Given the description of an element on the screen output the (x, y) to click on. 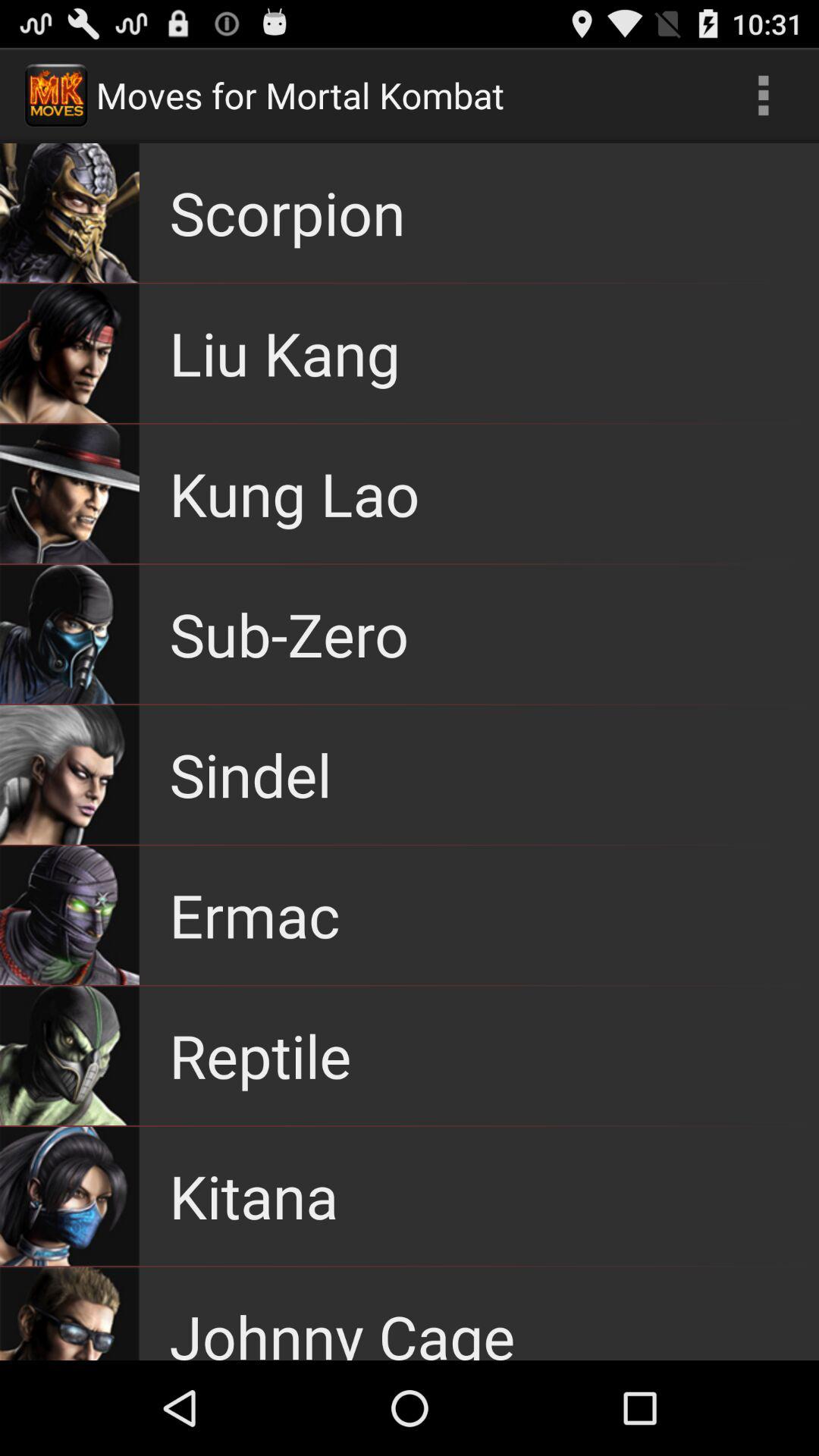
press the item above the kung lao app (284, 353)
